Given the description of an element on the screen output the (x, y) to click on. 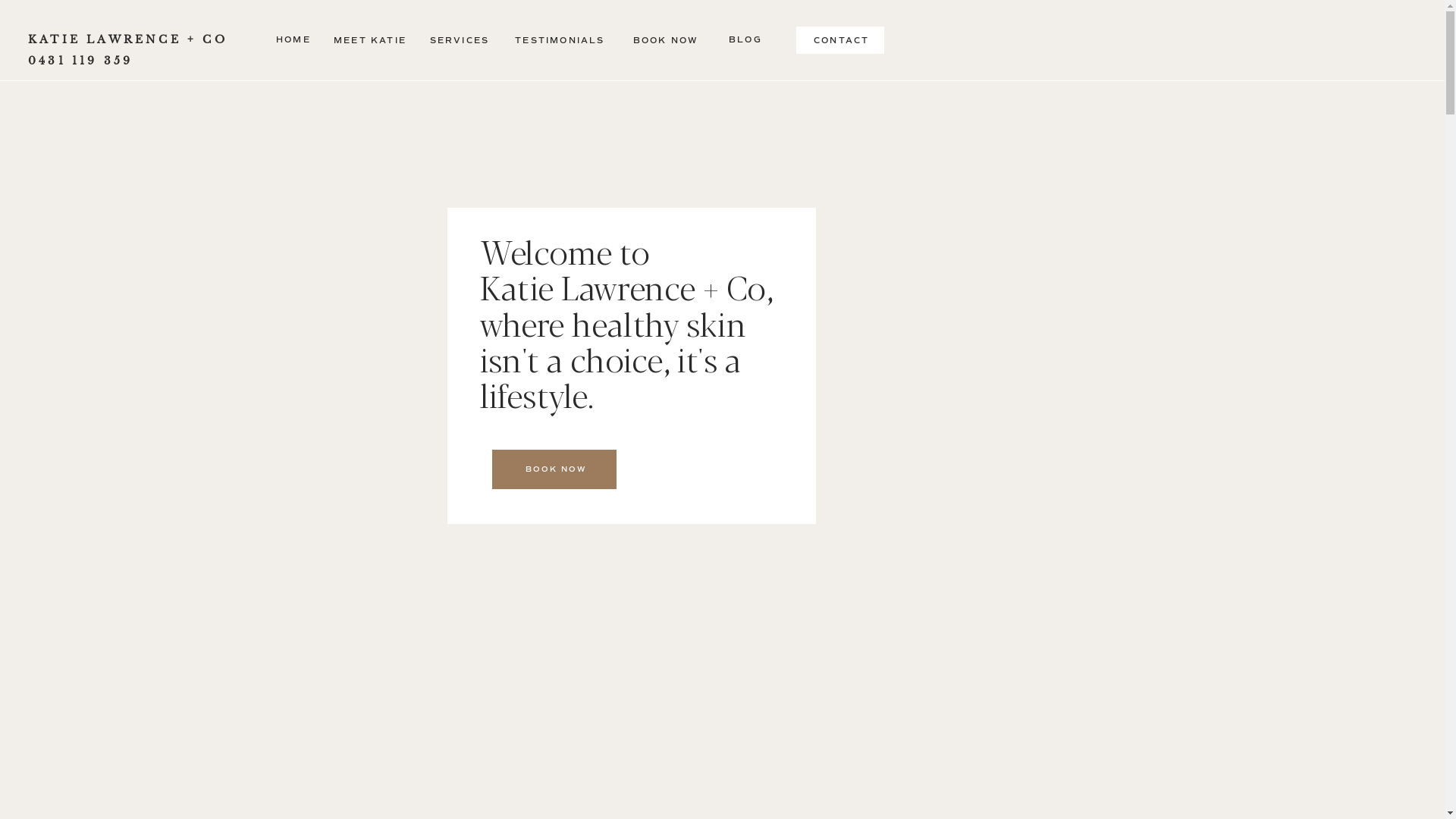
HOME Element type: text (293, 40)
CONTACT Element type: text (840, 42)
BOOK NOW Element type: text (665, 40)
MEET KATIE Element type: text (369, 40)
SERVICES Element type: text (459, 40)
KATIE LAWRENCE + CO

0431 119 359 Element type: text (129, 42)
BOOK NOW Element type: text (556, 468)
BLOG Element type: text (743, 39)
TESTIMONIALS Element type: text (559, 40)
